Given the description of an element on the screen output the (x, y) to click on. 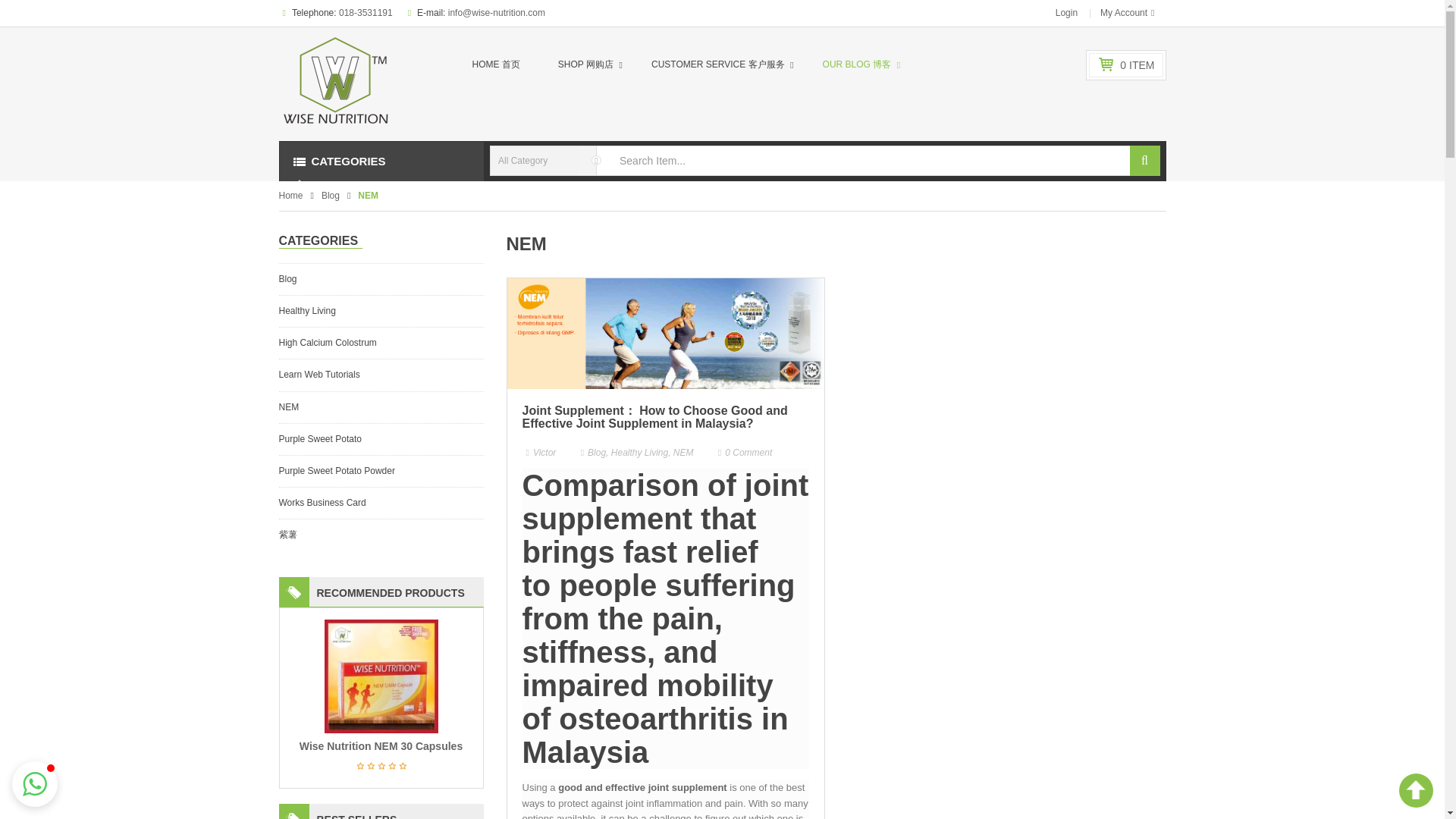
018-3531191 (366, 12)
018-3531191 (366, 12)
View your shopping cart (1136, 64)
My Account (1127, 13)
Wise Nutrition NEM 30 Capsules (381, 675)
Login (1066, 13)
Wise Nutrition NEM 30 Capsules (381, 746)
